Given the description of an element on the screen output the (x, y) to click on. 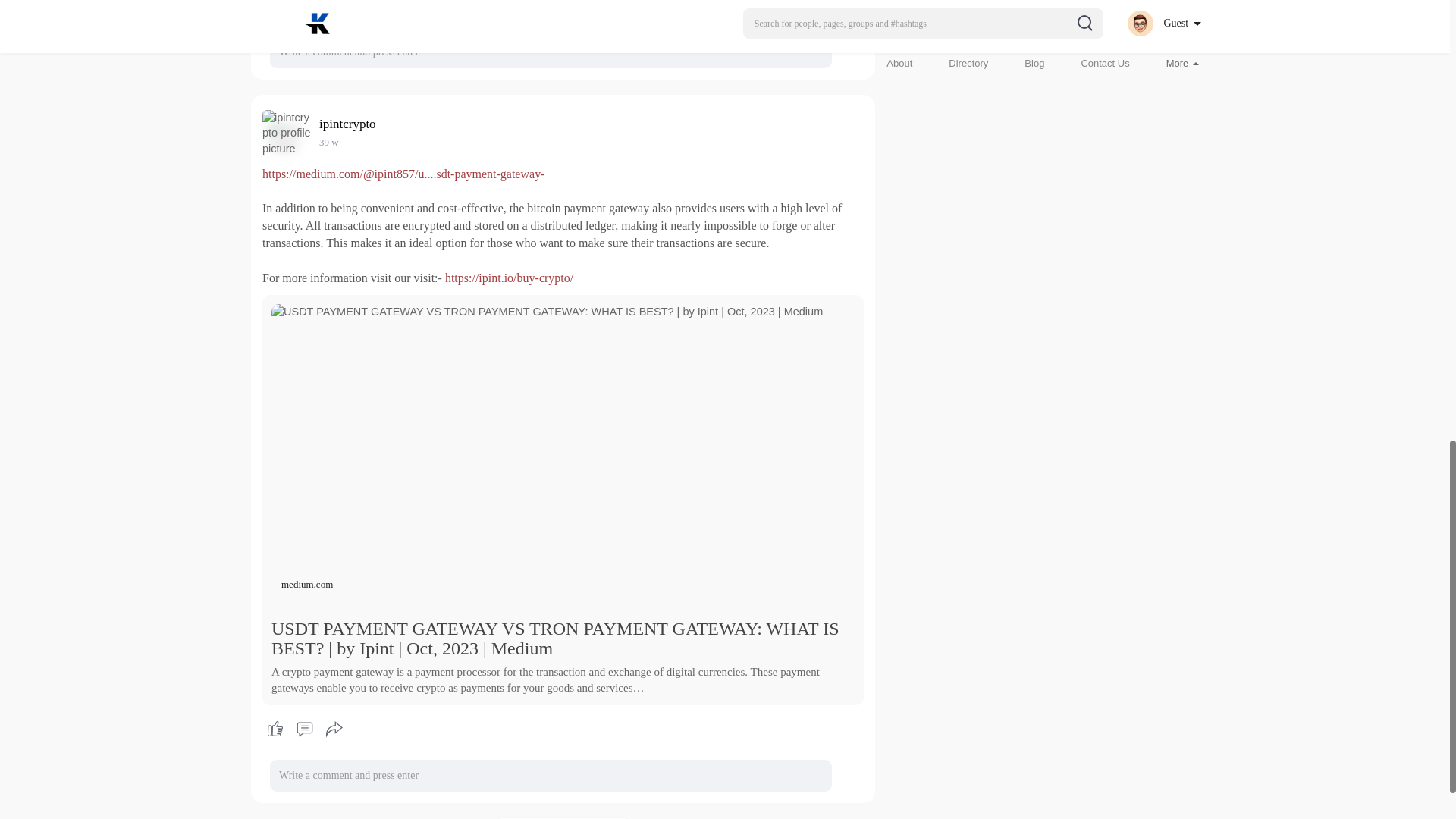
Language (1170, 33)
About (899, 62)
Share (334, 729)
Contact Us (1104, 62)
Blog (1034, 62)
Comments (304, 9)
Share (334, 9)
ipintcrypto (349, 124)
Directory (968, 62)
More (1182, 62)
39 w (328, 142)
Comments (304, 729)
